Given the description of an element on the screen output the (x, y) to click on. 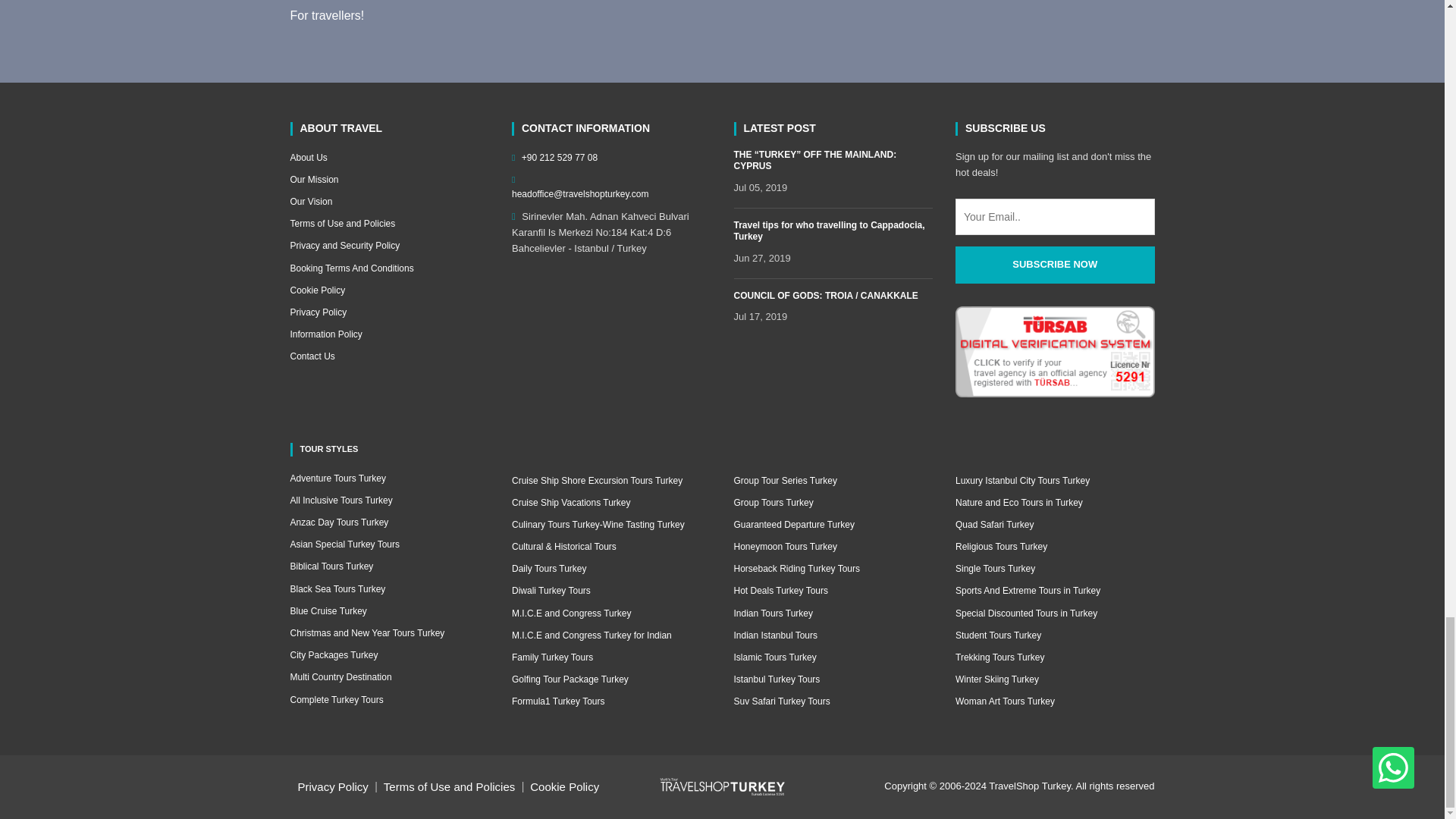
Terms of Use and Policies (389, 223)
Cookie Policy (389, 290)
Information Policy (389, 334)
SUBSCRIBE NOW (1054, 264)
Booking Terms And Conditions (389, 268)
Our Vision (389, 201)
Our Mission (389, 179)
Privacy Policy (389, 312)
About Us (389, 157)
Contact Us (389, 356)
